Given the description of an element on the screen output the (x, y) to click on. 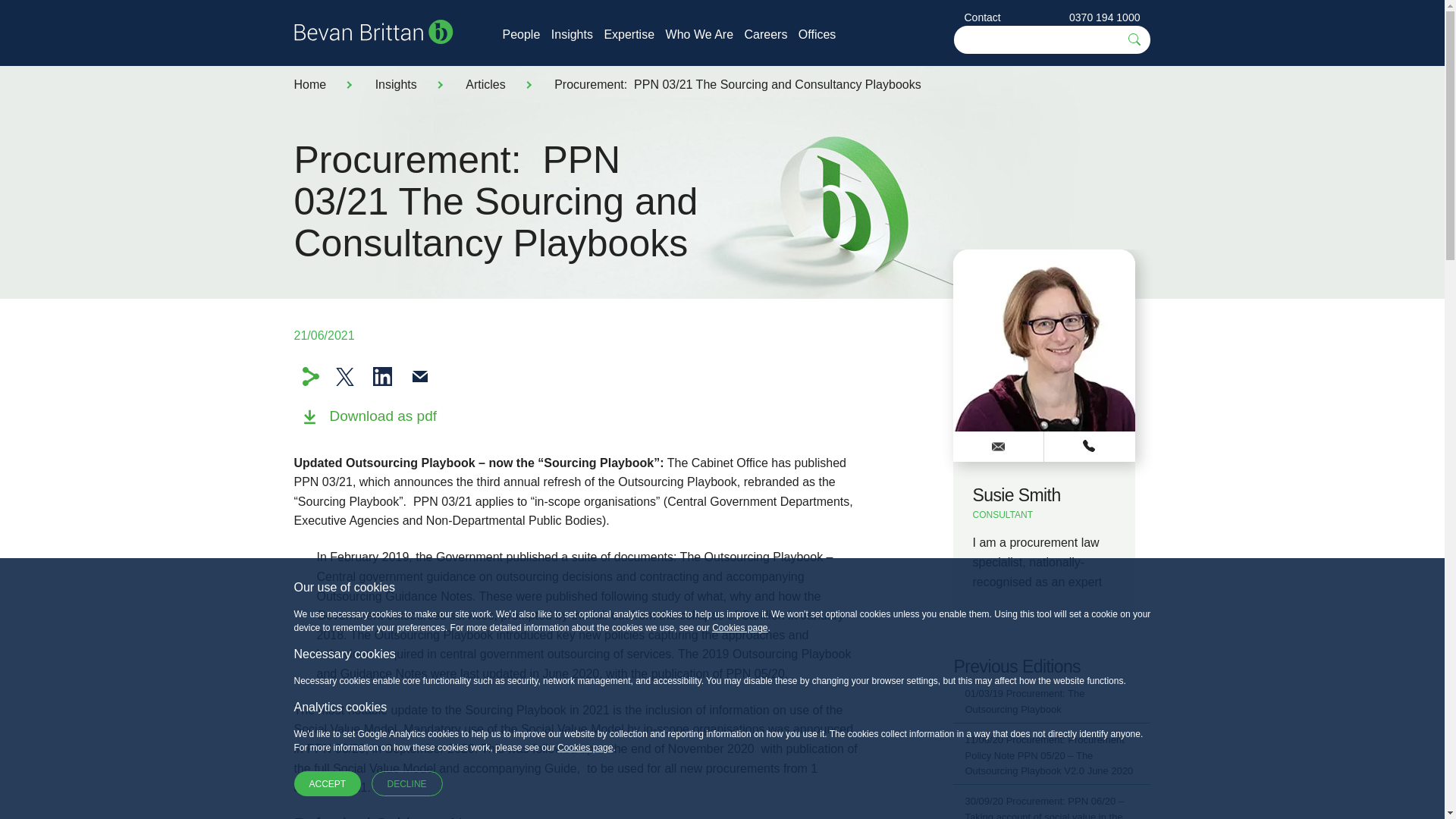
People (521, 33)
Twitter (343, 375)
Who We Are (699, 33)
Email (419, 375)
Offices (816, 33)
Download as pdf (369, 427)
Articles (485, 83)
Expertise (628, 33)
Insights (395, 83)
Insights (571, 33)
LinkedIn (381, 375)
Contact (982, 17)
0370 194 1000 (1104, 17)
Careers (765, 33)
Home (310, 83)
